Given the description of an element on the screen output the (x, y) to click on. 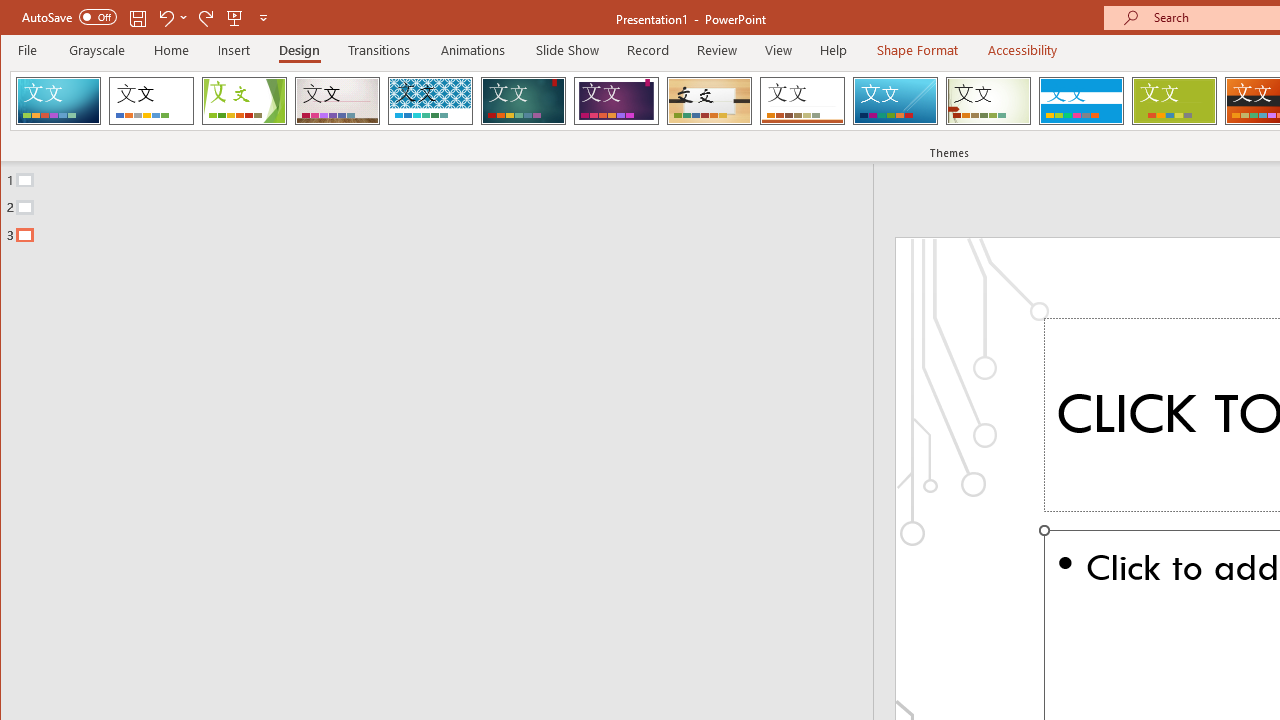
Slice (895, 100)
